Given the description of an element on the screen output the (x, y) to click on. 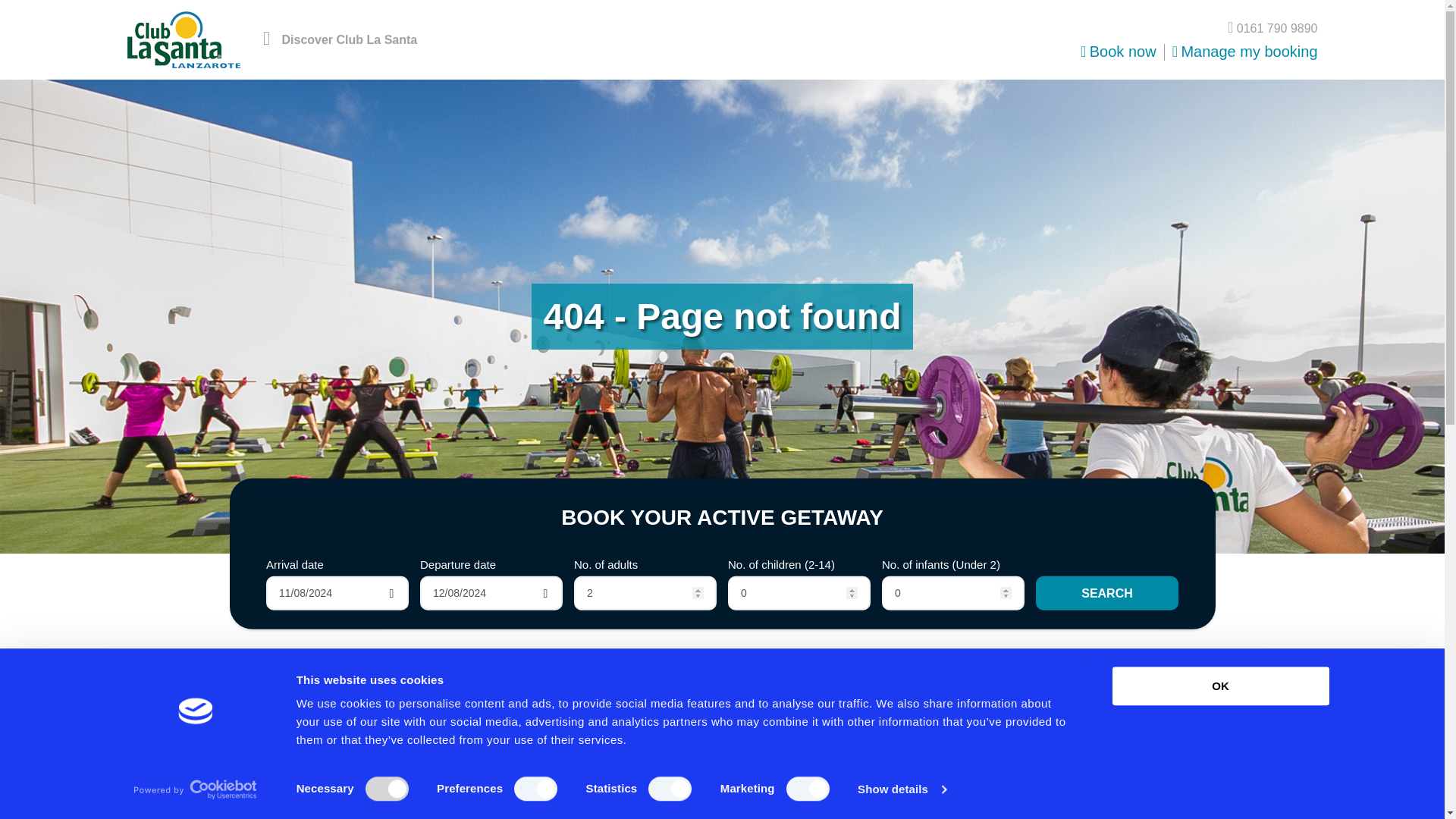
2 (644, 592)
0 (953, 592)
Show details (900, 789)
0 (799, 592)
